Given the description of an element on the screen output the (x, y) to click on. 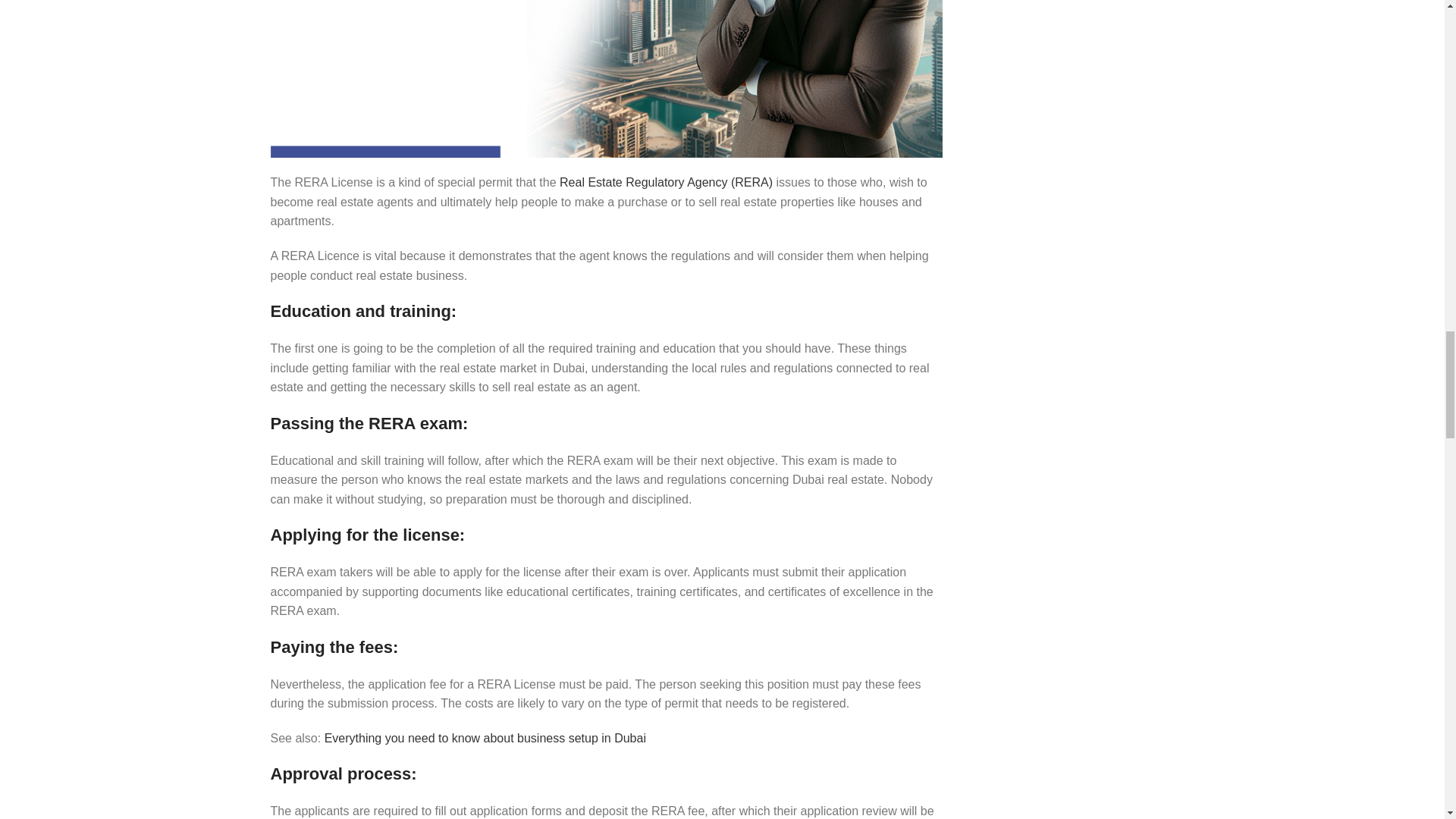
Everything you need to know about business setup in Dubai (485, 738)
